Given the description of an element on the screen output the (x, y) to click on. 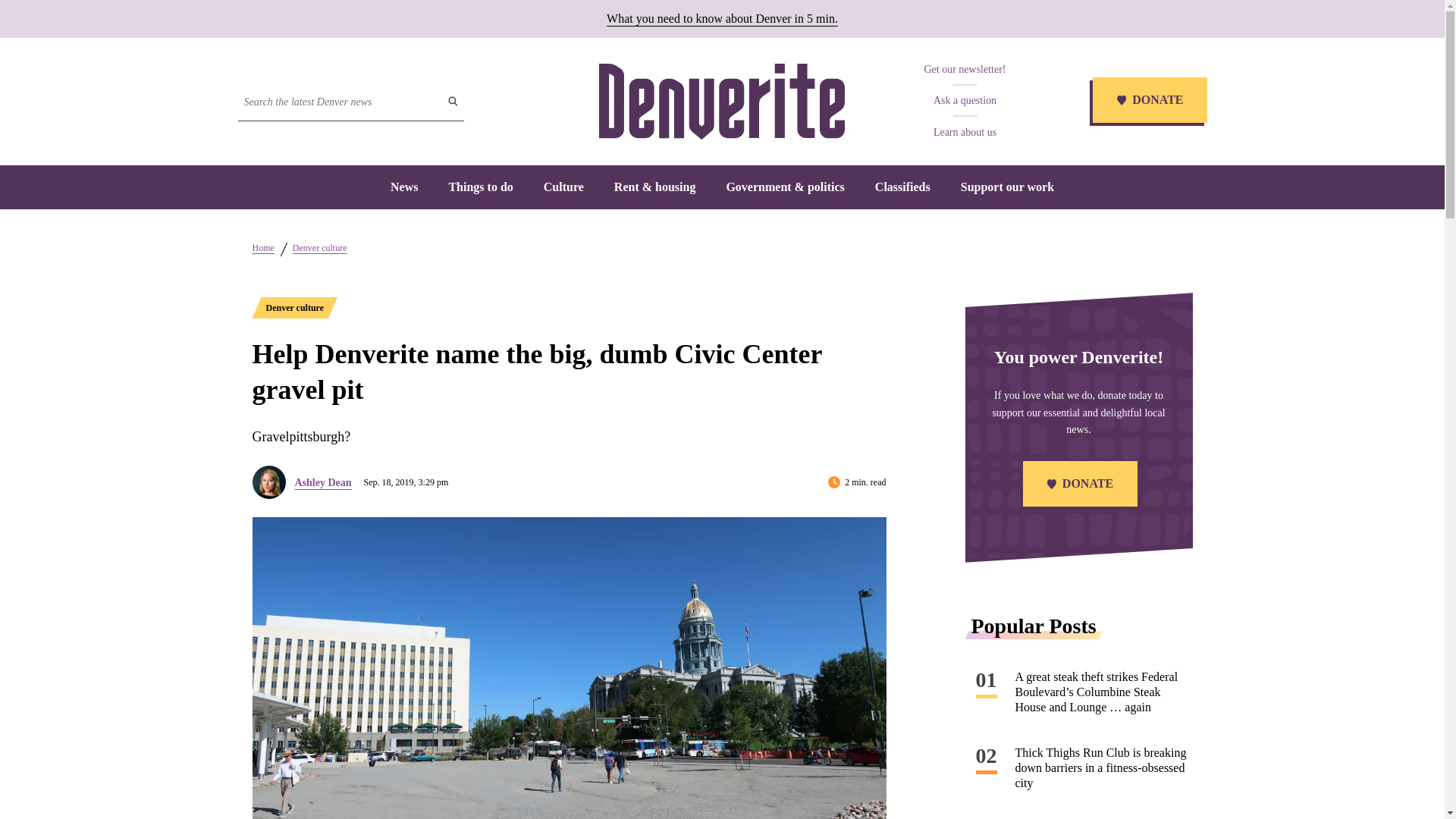
Things to do (480, 186)
What you need to know about Denver in 5 min. (722, 18)
DONATE (1148, 101)
Ashley Dean (322, 482)
Learn about us (964, 132)
Denver culture (319, 247)
Support our work (1007, 186)
Ask a question (964, 100)
Classifieds (902, 186)
Denver culture (294, 307)
